Given the description of an element on the screen output the (x, y) to click on. 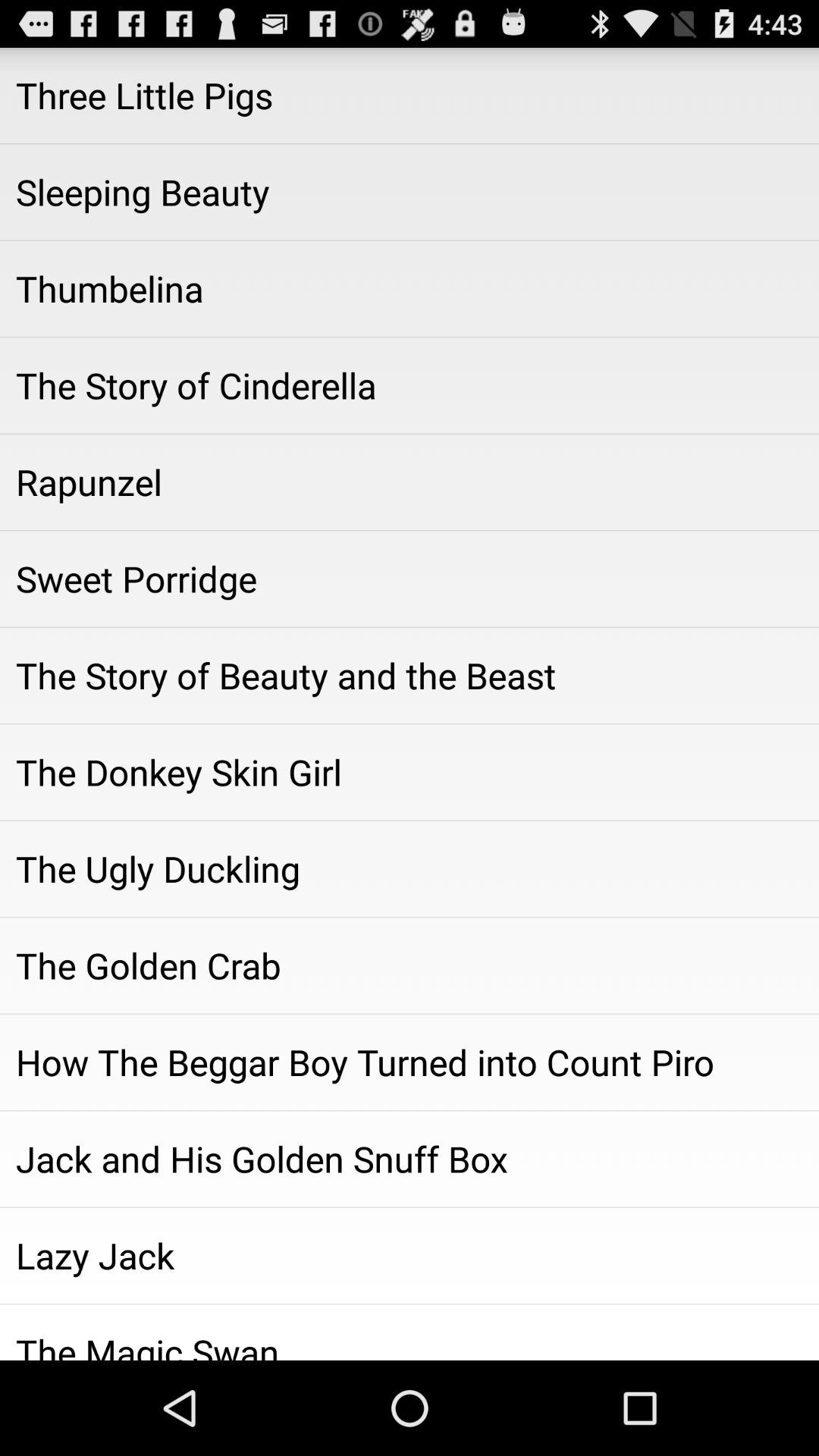
launch icon above the ugly duckling (409, 772)
